Given the description of an element on the screen output the (x, y) to click on. 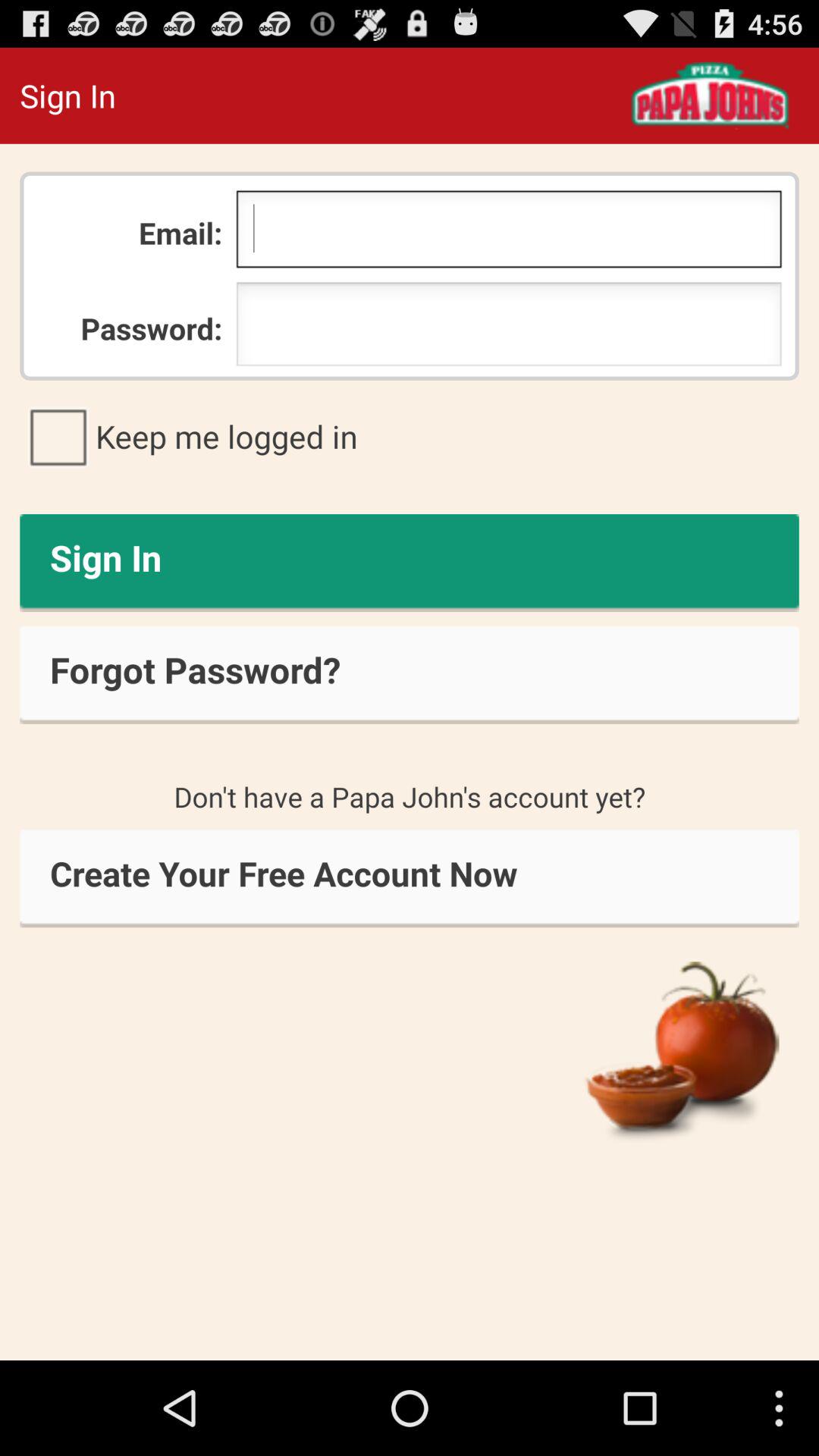
select icon below sign in (409, 675)
